Given the description of an element on the screen output the (x, y) to click on. 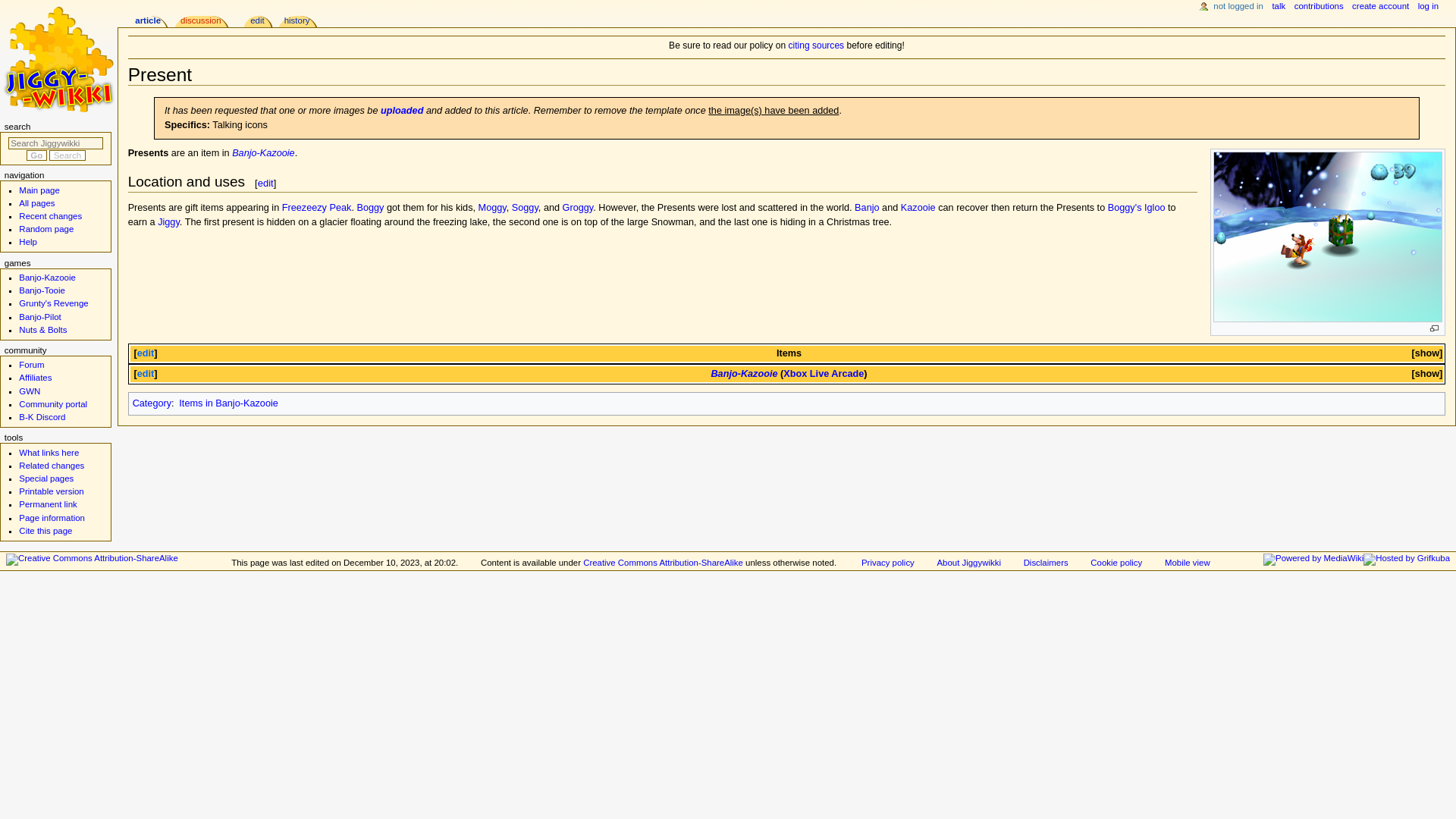
Moggy (492, 207)
Search (66, 154)
edit (265, 183)
Go (36, 154)
Special:Upload (401, 110)
Boggy's Igloo (1137, 207)
Banjo-Kazooie (263, 153)
Groggy (578, 207)
Kazooie (918, 207)
Banjo-Kazooie (263, 153)
